Given the description of an element on the screen output the (x, y) to click on. 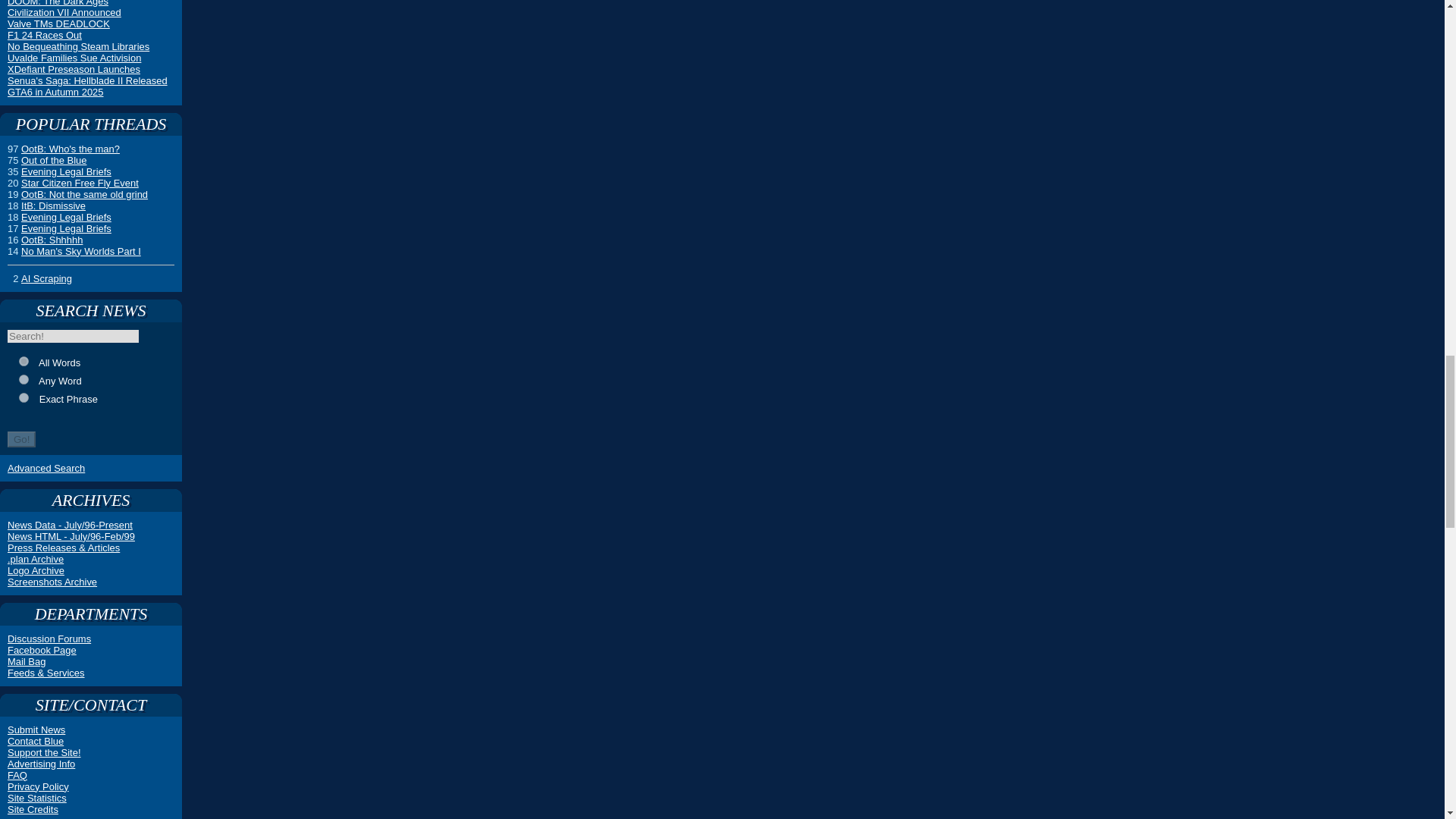
2 (23, 379)
1 (23, 361)
